Given the description of an element on the screen output the (x, y) to click on. 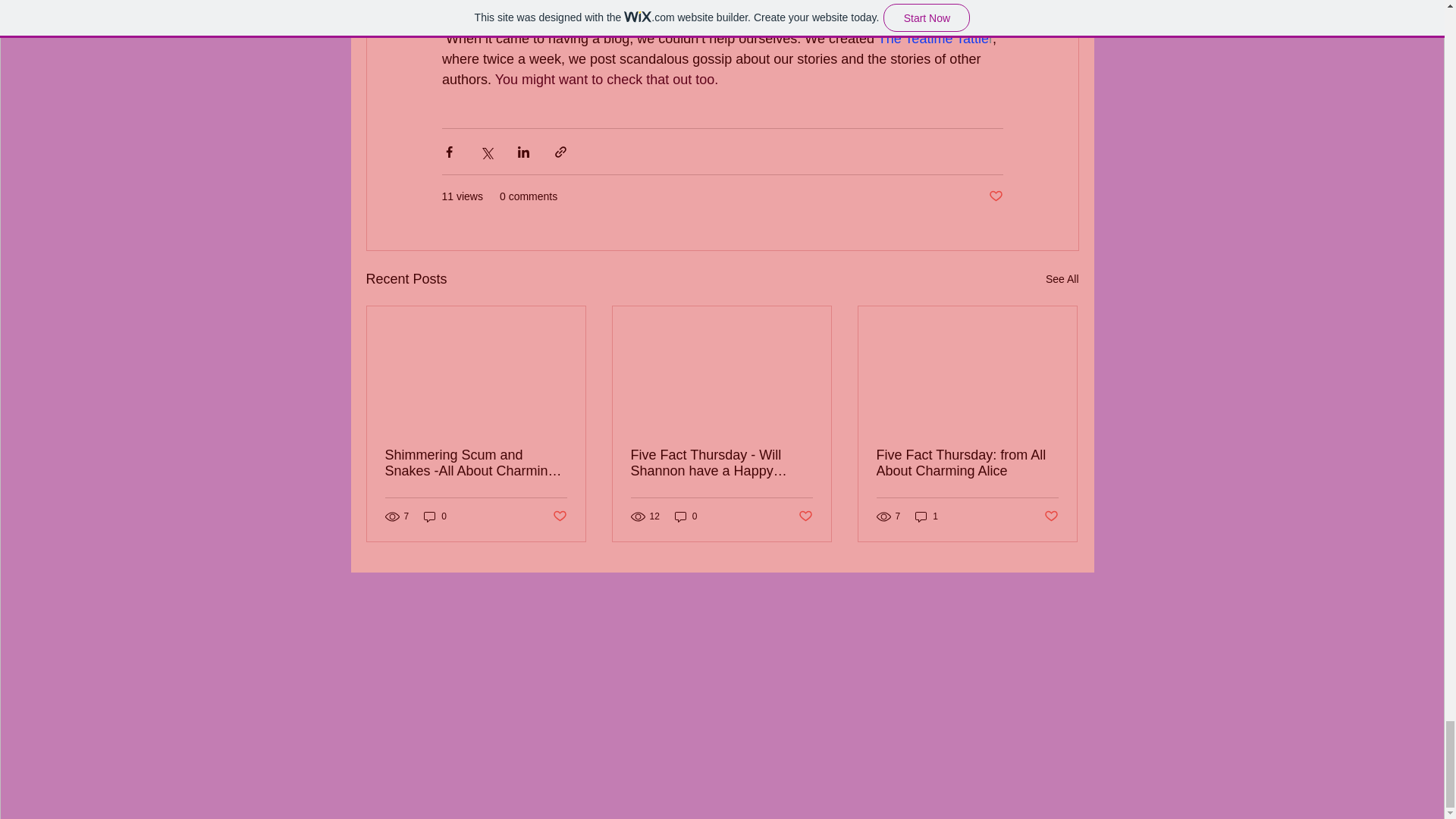
Post not marked as liked (804, 515)
Post not marked as liked (995, 196)
Post not marked as liked (1050, 515)
0 (685, 516)
Five Fact Thursday: from All About Charming Alice (967, 463)
Post not marked as liked (558, 515)
The Teatime Tattle (932, 38)
See All (1061, 279)
1 (926, 516)
0 (435, 516)
